Given the description of an element on the screen output the (x, y) to click on. 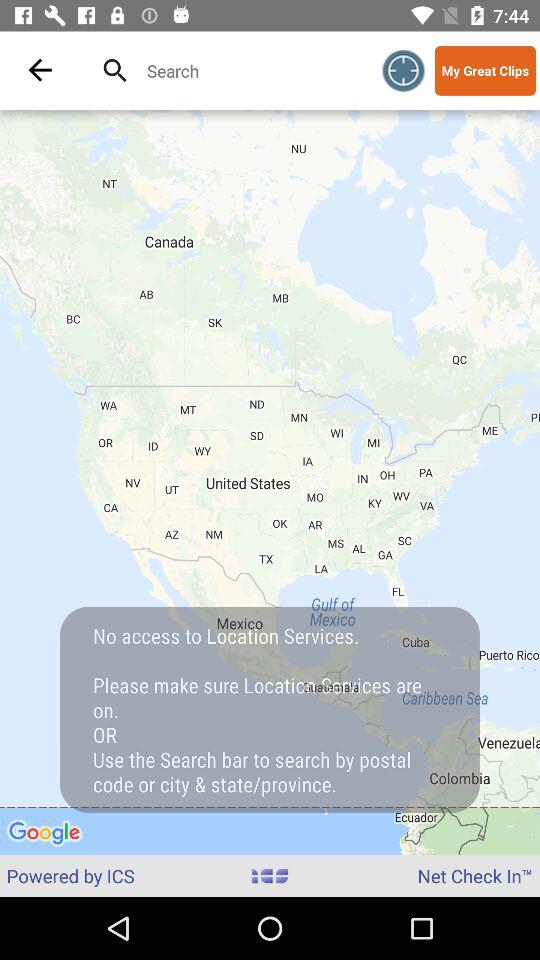
turn off the icon at the center (270, 482)
